Given the description of an element on the screen output the (x, y) to click on. 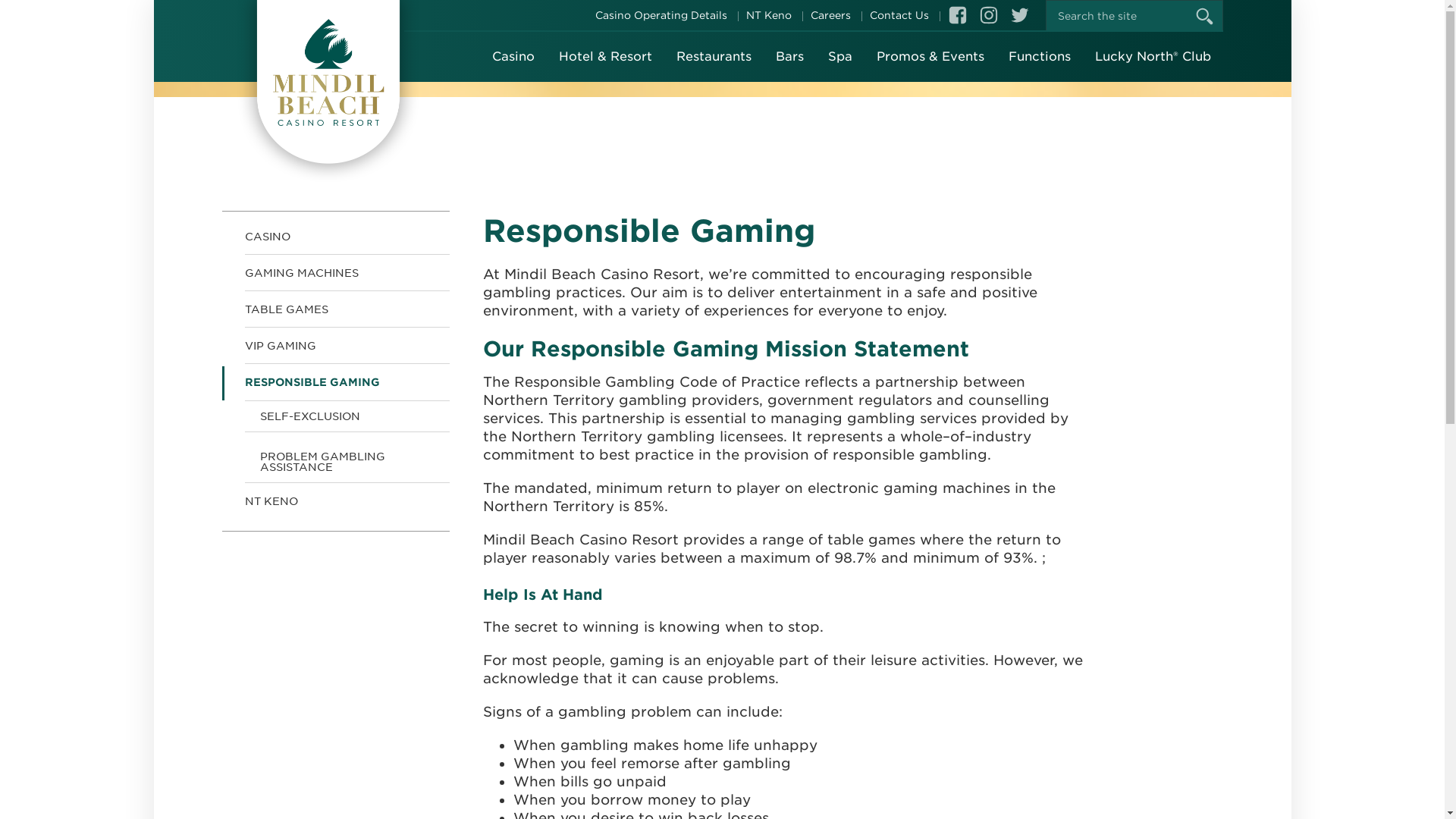
Casino Element type: text (512, 56)
CASINO Element type: text (334, 232)
SELF-EXCLUSION Element type: text (334, 416)
Spa Element type: text (839, 56)
VIP GAMING Element type: text (334, 345)
TABLE GAMES Element type: text (334, 309)
Restaurants Element type: text (713, 56)
Casino Operating Details Element type: text (660, 15)
search Element type: text (1213, 17)
enter search terms here Element type: hover (1133, 15)
Skip to Content Element type: text (221, 0)
Hotel & Resort Element type: text (604, 56)
RESPONSIBLE GAMING Element type: text (334, 382)
click to begin searching Element type: hover (1213, 17)
GAMING MACHINES Element type: text (334, 272)
Bars Element type: text (788, 56)
NT Keno Element type: text (768, 15)
NT KENO Element type: text (334, 501)
Promos & Events Element type: text (930, 56)
Functions Element type: text (1039, 56)
PROBLEM GAMBLING ASSISTANCE Element type: text (334, 457)
Careers Element type: text (829, 15)
Contact Us Element type: text (898, 15)
